Given the description of an element on the screen output the (x, y) to click on. 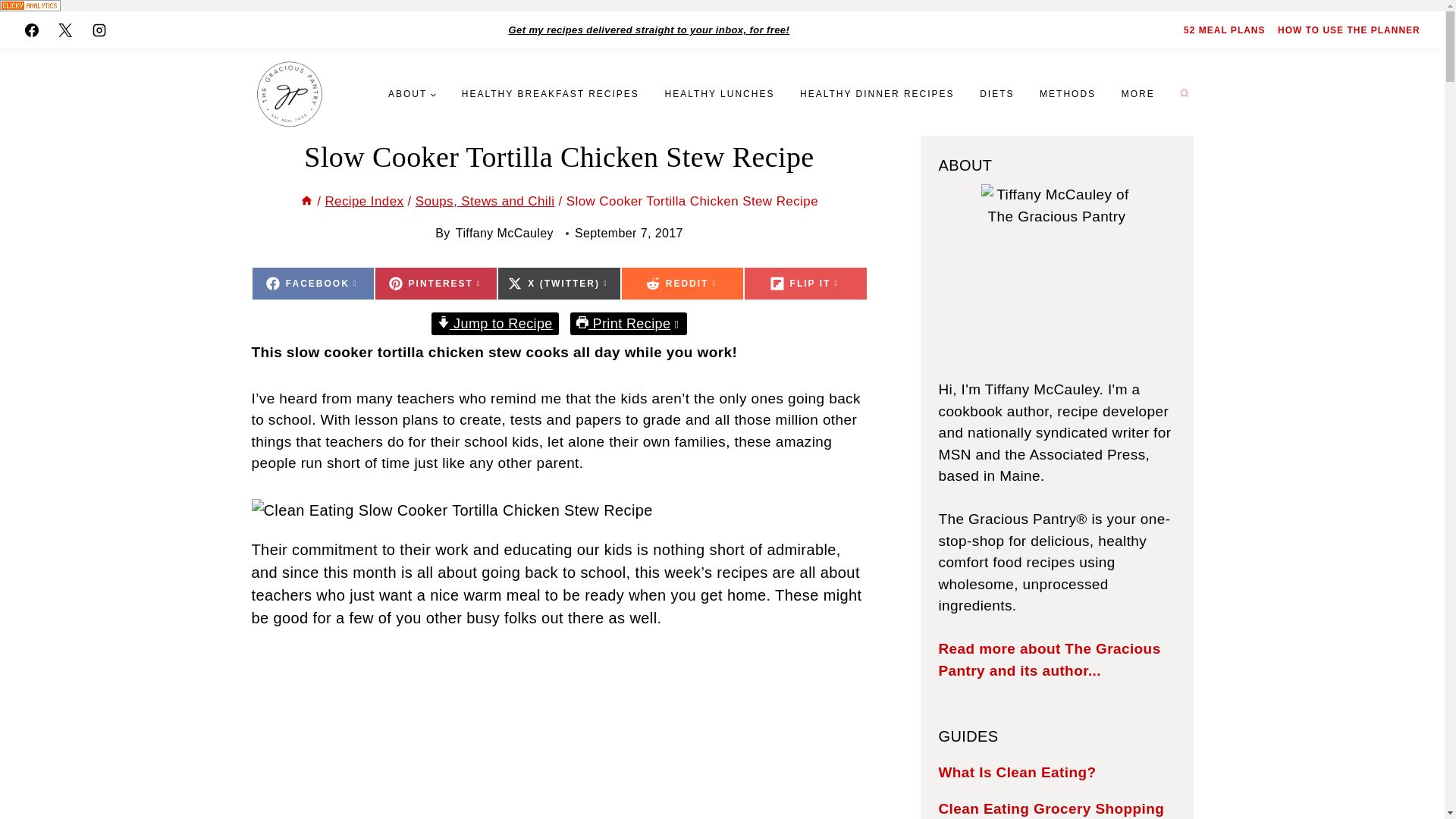
Get my recipes delivered straight to your inbox, for free! (649, 30)
DIETS (996, 93)
HEALTHY DINNER RECIPES (876, 93)
Recipe Index (363, 201)
Tiffany McCauley (504, 232)
 External link. Opens in a new tab. (312, 283)
Soups, Stews and Chili (484, 201)
 External link. Opens in a new tab. (64, 30)
MORE (1137, 93)
HEALTHY BREAKFAST RECIPES (312, 283)
 External link. Opens in a new tab. (550, 93)
 External link. Opens in a new tab. (435, 283)
METHODS (558, 283)
